Given the description of an element on the screen output the (x, y) to click on. 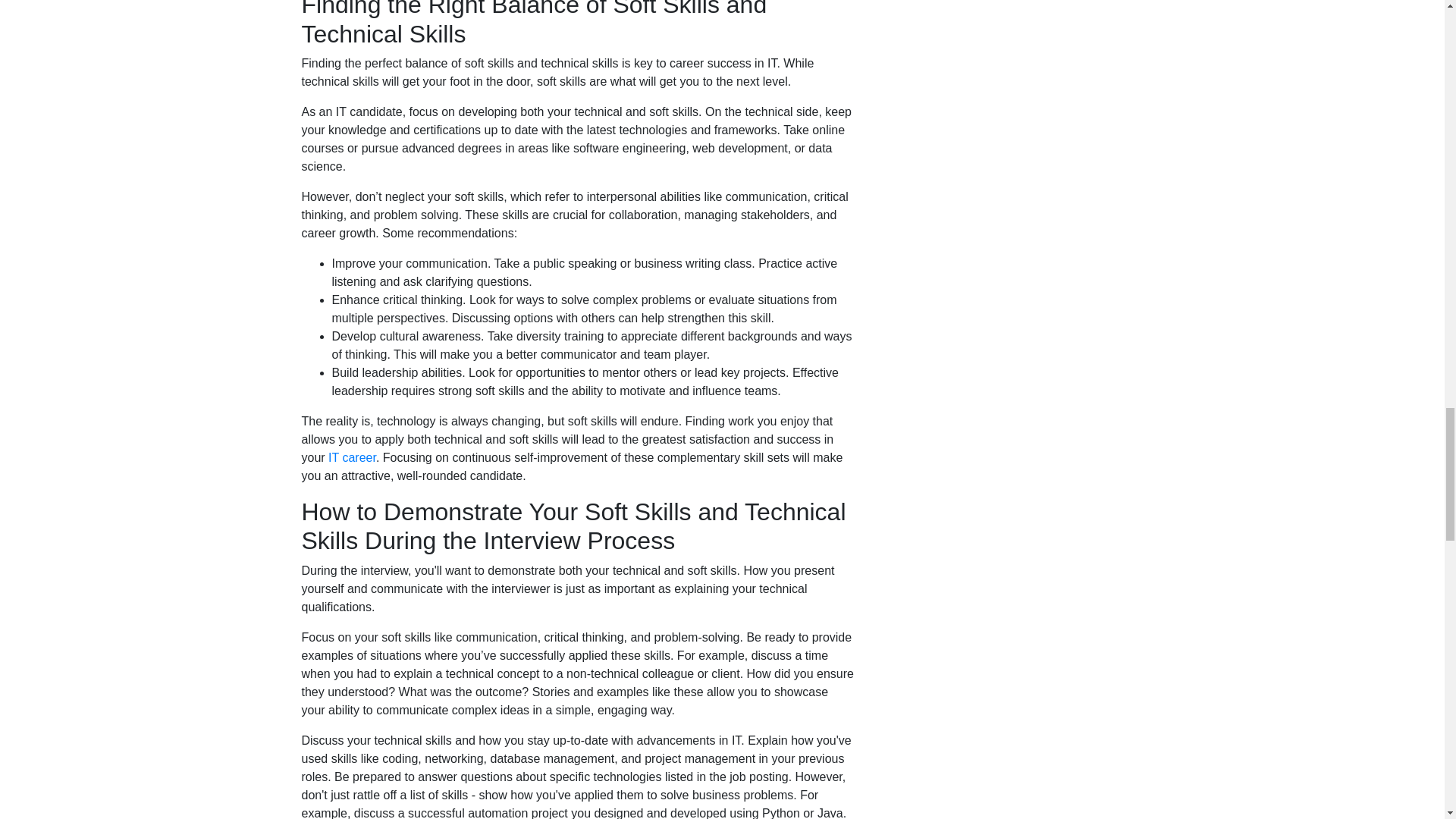
IT career (352, 457)
